Given the description of an element on the screen output the (x, y) to click on. 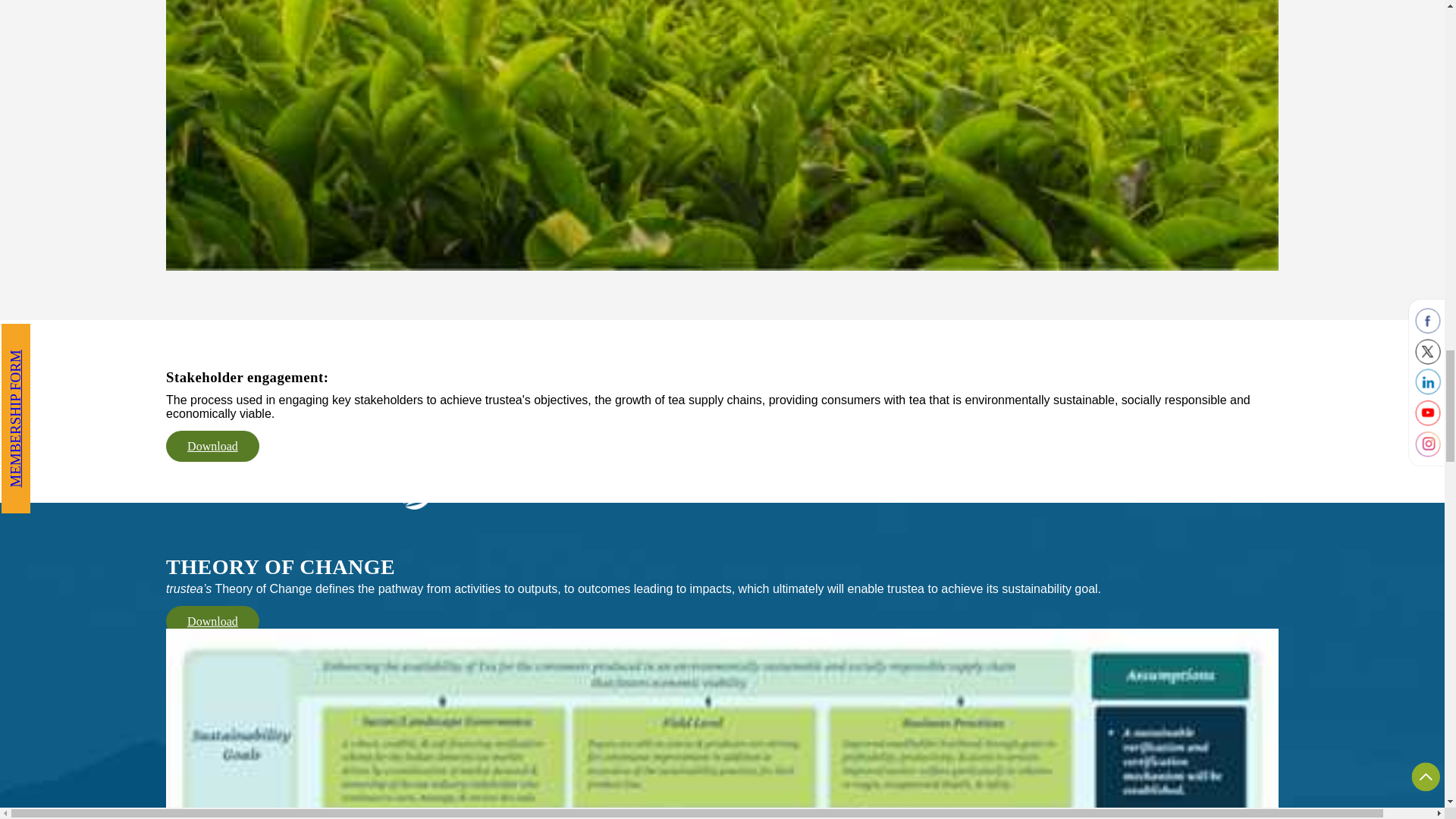
Download (212, 445)
